Given the description of an element on the screen output the (x, y) to click on. 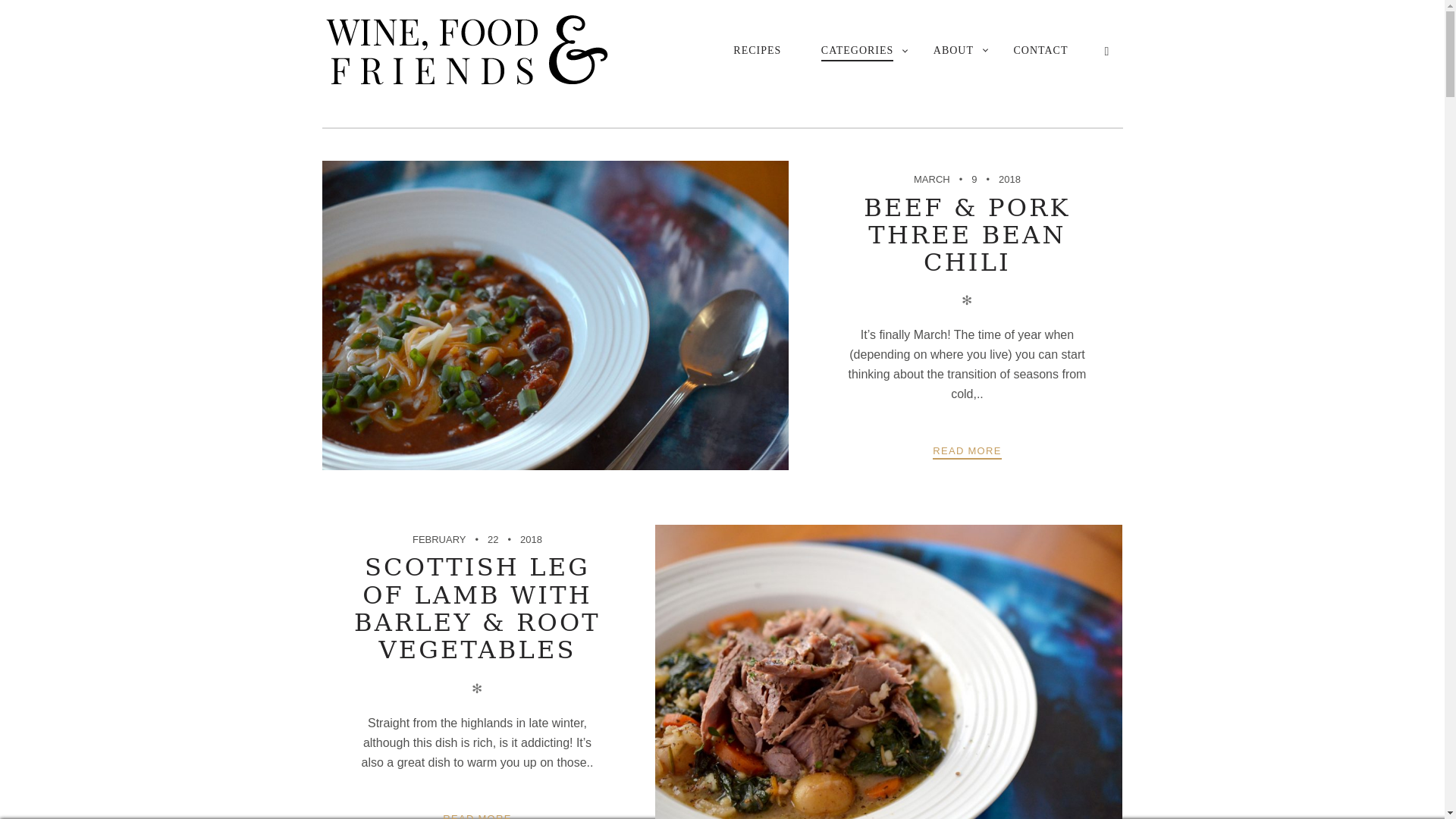
RECIPES (756, 50)
READ MORE (476, 815)
CONTACT (1040, 50)
ABOUT (953, 50)
READ MORE (967, 451)
CATEGORIES (857, 51)
